Given the description of an element on the screen output the (x, y) to click on. 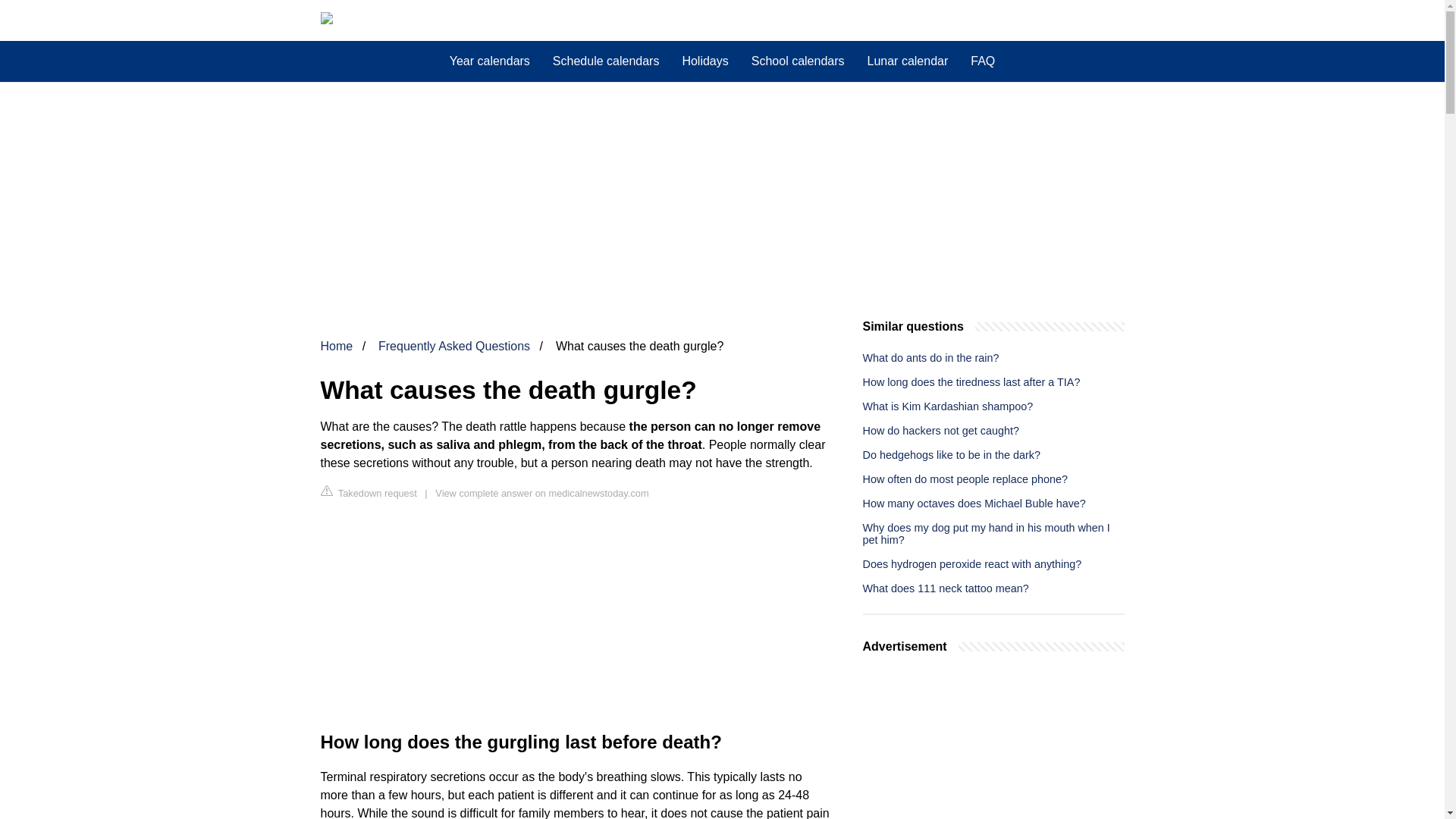
Holidays (704, 60)
School calendars (797, 60)
Takedown request (368, 492)
View complete answer on medicalnewstoday.com (541, 492)
Frequently Asked Questions (453, 345)
Home (336, 345)
FAQ (982, 60)
Schedule calendars (606, 60)
Year calendars (489, 60)
Lunar calendar (907, 60)
